Given the description of an element on the screen output the (x, y) to click on. 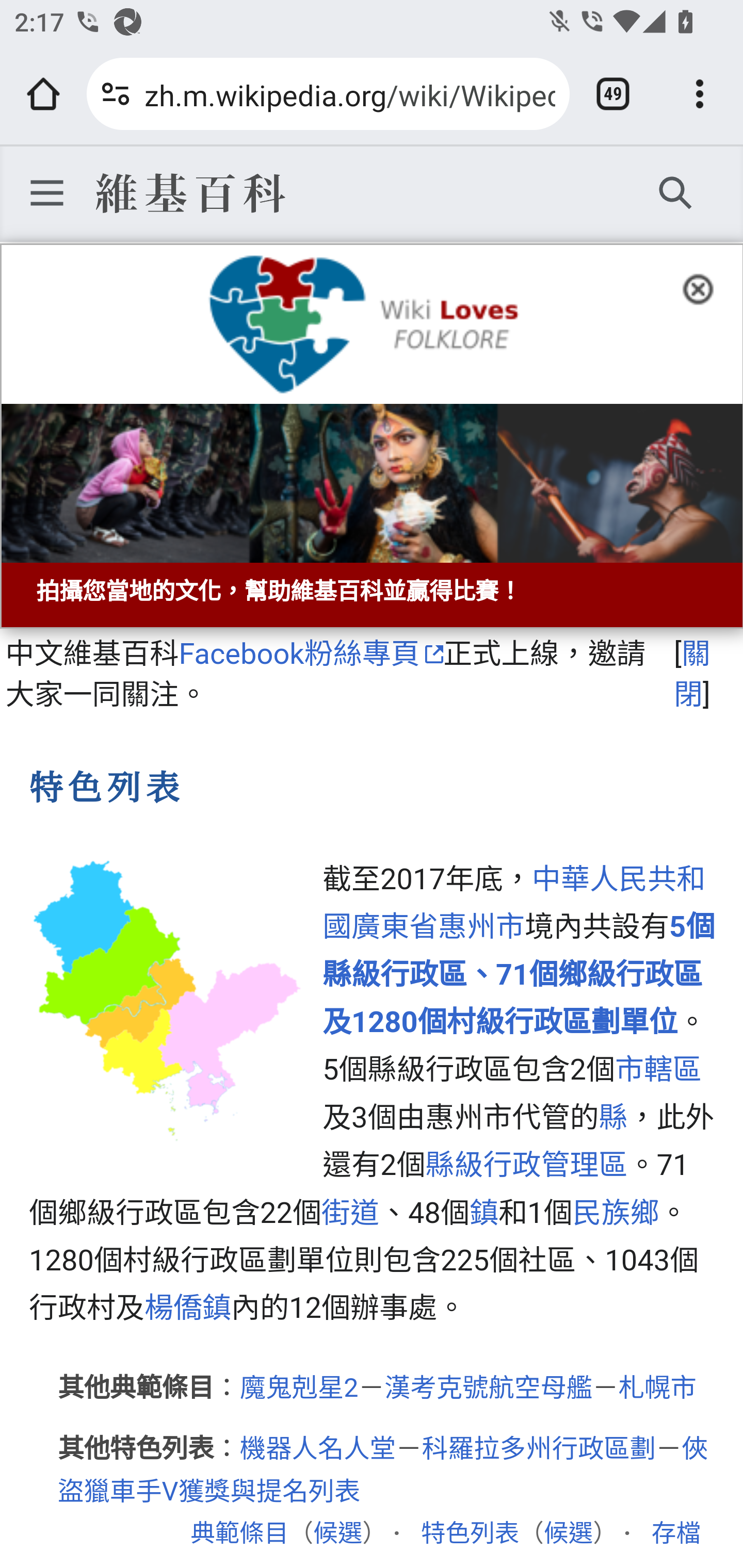
Open the home page (43, 93)
Connection is secure (115, 93)
Switch or close tabs (612, 93)
Customize and control Google Chrome (699, 93)
zh.m.wikipedia.org/wiki/Wikipedia:首页 (349, 92)
搜尋 (676, 192)
維基百科 (189, 191)
拍攝您當地的文化，幫助維基百科並贏得比賽！ (371, 435)
隱藏 (703, 286)
Facebook粉絲專頁 (310, 653)
關閉 (692, 674)
305px-Administrative_Division_Huizhou (167, 999)
中華人民共和國 (513, 902)
5個縣級行政區、71個鄉級行政區及1280個村級行政區劃單位 (518, 975)
廣東省 (394, 927)
惠州市 (480, 927)
市轄區 (657, 1070)
縣 (612, 1117)
縣級行政管理區 (526, 1165)
街道 (349, 1212)
鎮 (482, 1212)
民族鄉 (615, 1212)
楊僑鎮 (187, 1308)
其他典範條目 (135, 1388)
魔鬼剋星2 (298, 1388)
漢考克號航空母艦 (487, 1388)
札幌市 (656, 1388)
其他特色列表 (135, 1449)
俠盜獵車手V獲獎與提名列表 (383, 1470)
機器人名人堂 (317, 1449)
科羅拉多州行政區劃 (538, 1449)
典範條目 (239, 1533)
候選 (337, 1533)
特色列表 (469, 1533)
候選 (567, 1533)
存檔 (676, 1533)
